Given the description of an element on the screen output the (x, y) to click on. 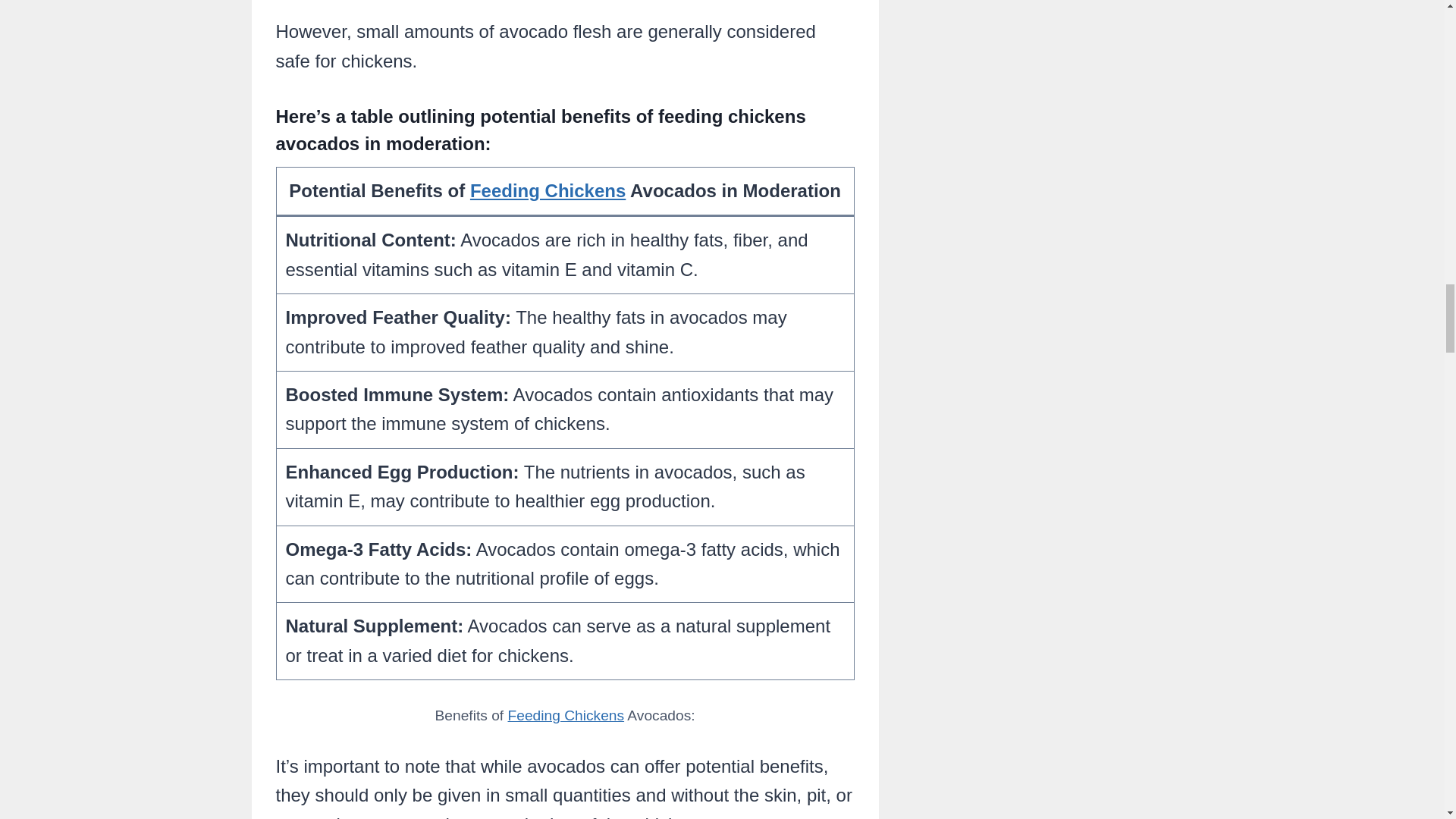
Feeding Chickens (548, 190)
Feeding Chickens (566, 715)
